Given the description of an element on the screen output the (x, y) to click on. 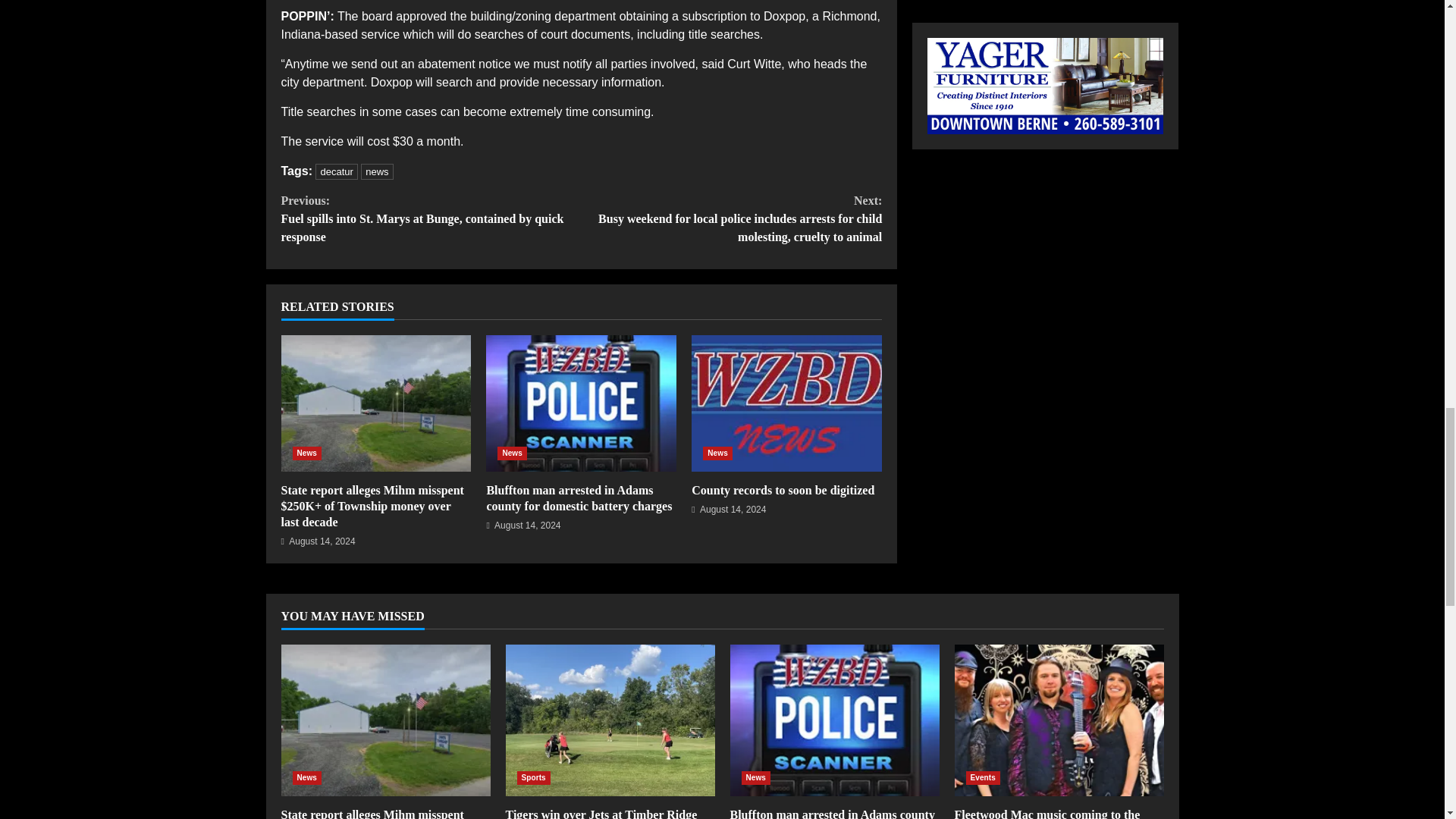
News (512, 453)
decatur (335, 171)
News (306, 453)
news (377, 171)
